Given the description of an element on the screen output the (x, y) to click on. 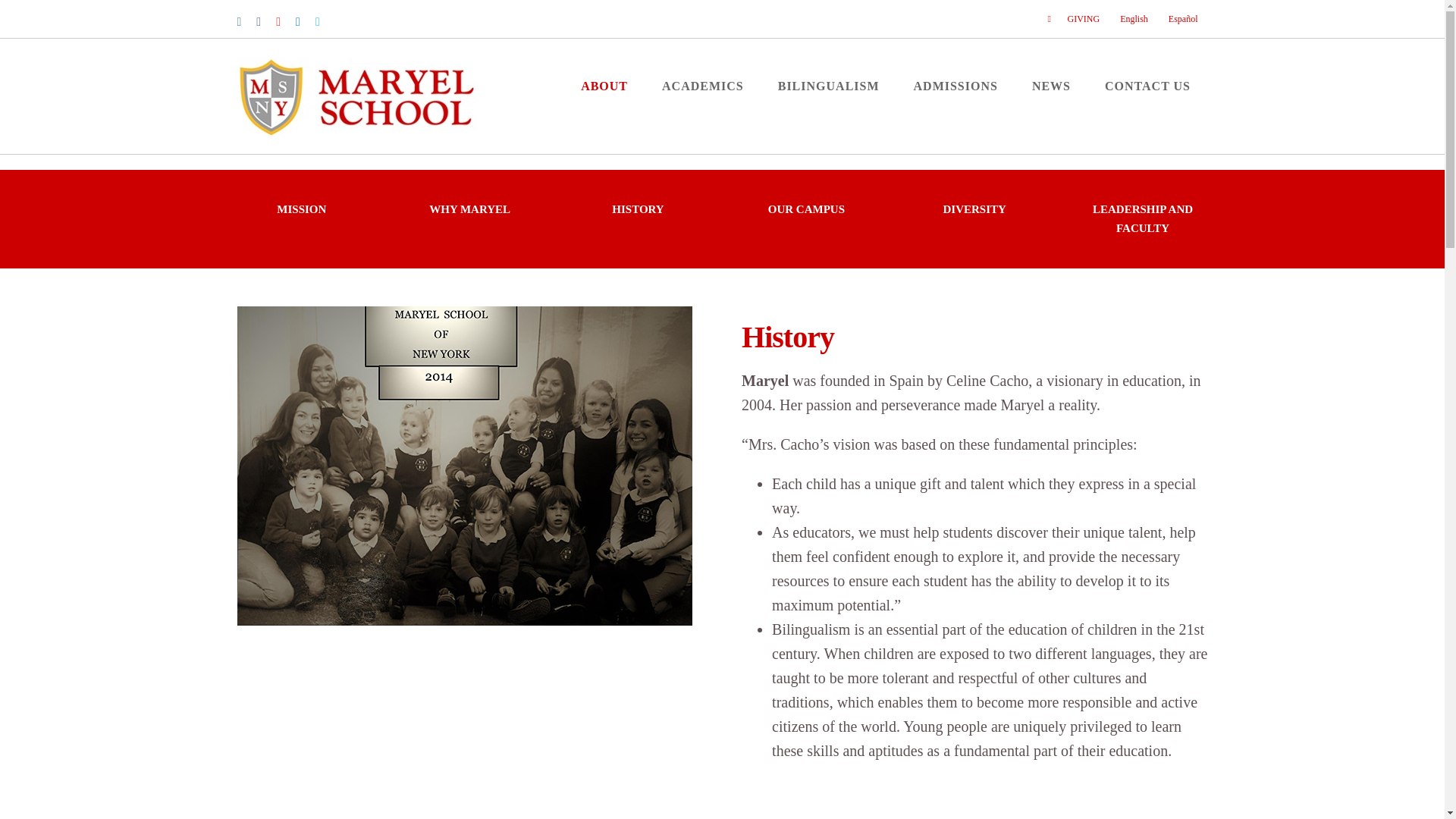
English (1133, 18)
GIVING (1072, 18)
BILINGUALISM (828, 86)
ACADEMICS (703, 86)
English (1133, 18)
ADMISSIONS (955, 86)
